Given the description of an element on the screen output the (x, y) to click on. 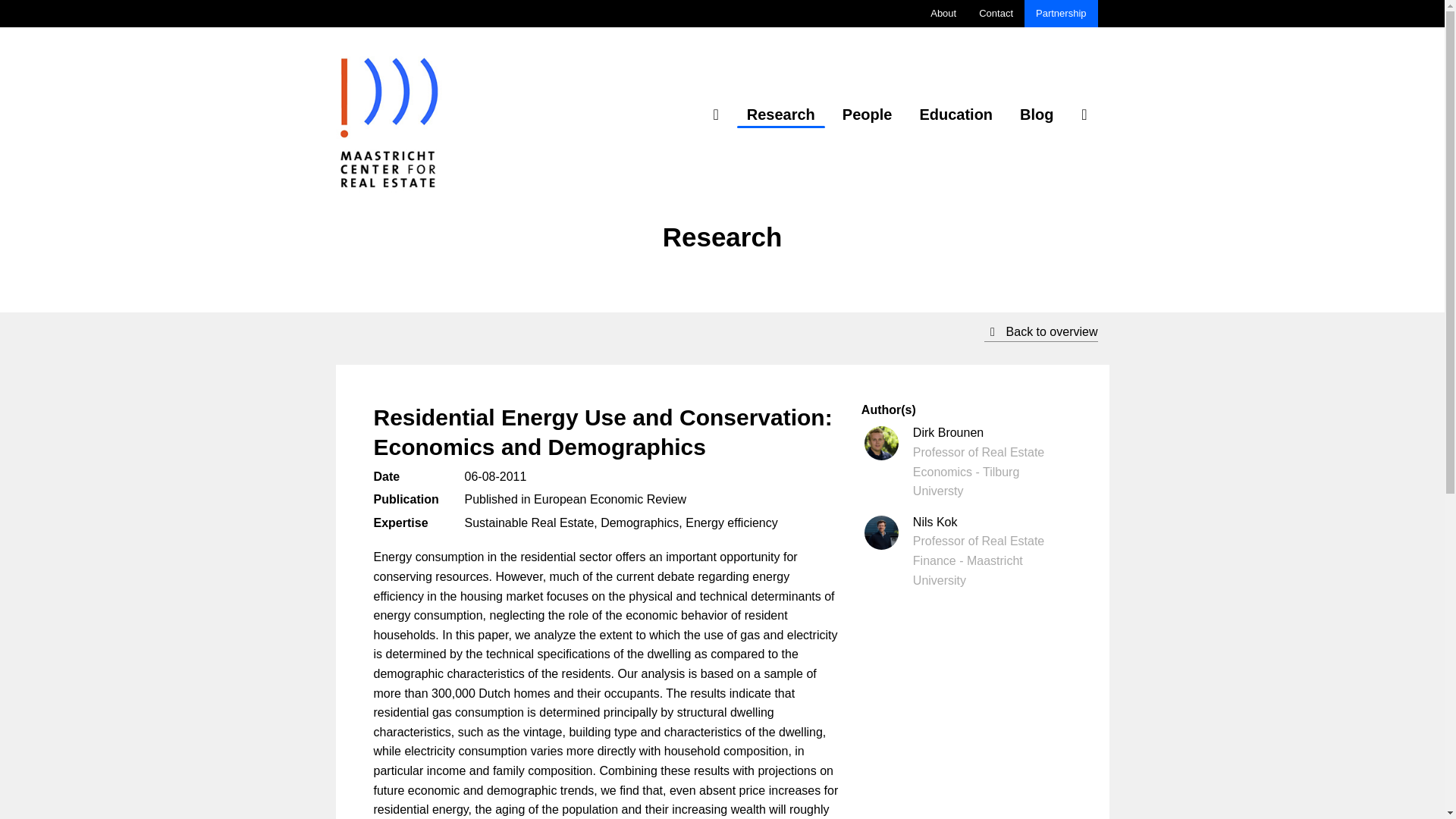
People (867, 113)
About (943, 13)
About (943, 13)
People (867, 113)
Homepage (716, 113)
Partnership (1061, 13)
Zoeken (1083, 113)
Show profile of Nils Kok (966, 550)
